Given the description of an element on the screen output the (x, y) to click on. 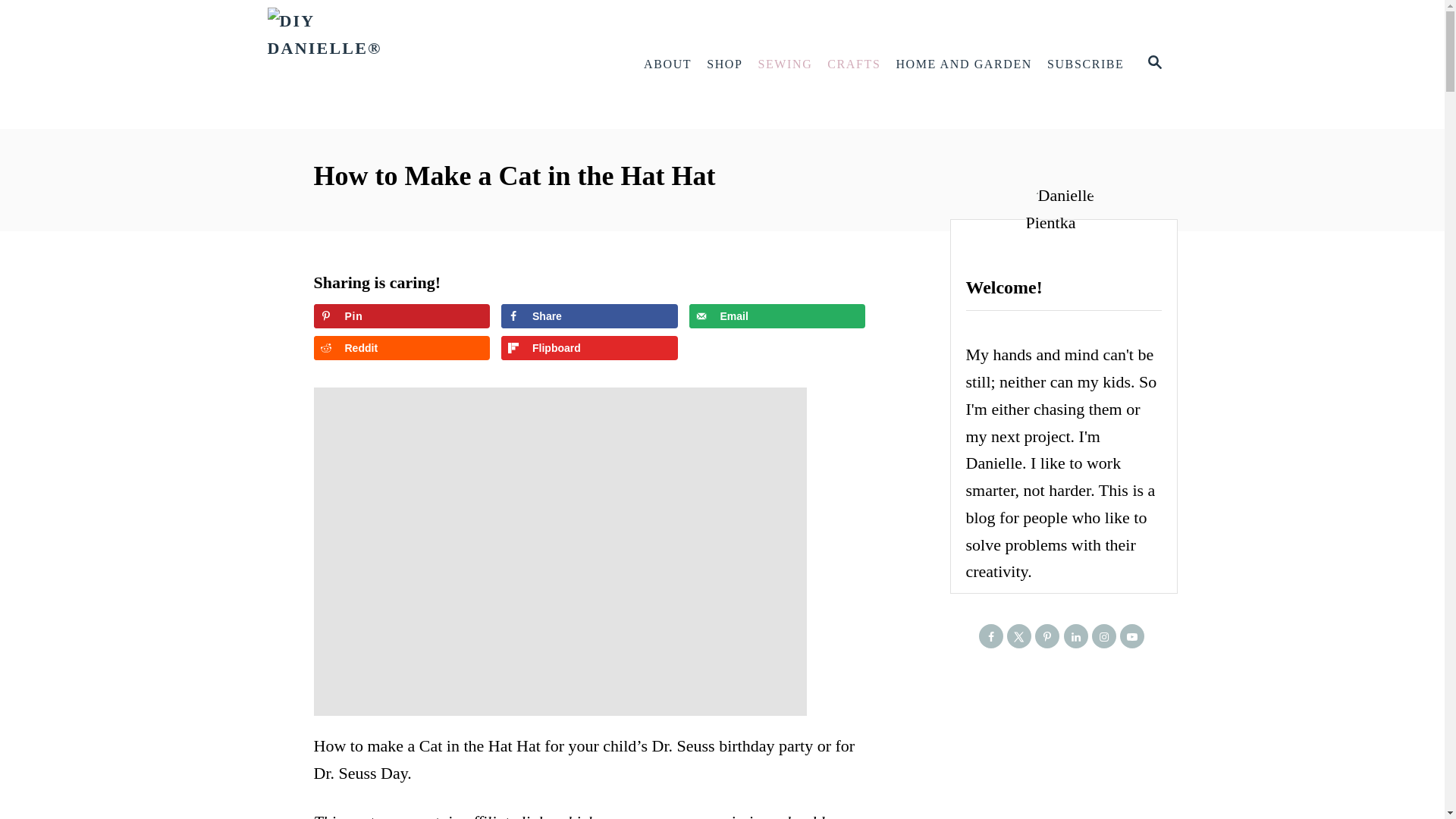
Email (776, 315)
SHOP (723, 64)
Send over email (776, 315)
SEARCH (1153, 64)
Reddit (402, 347)
Share (589, 315)
Follow on Facebook (990, 636)
SUBSCRIBE (1085, 64)
Pin (402, 315)
Share on Reddit (402, 347)
SEWING (786, 64)
CRAFTS (853, 64)
HOME AND GARDEN (963, 64)
Save to Pinterest (402, 315)
Flipboard (589, 347)
